Given the description of an element on the screen output the (x, y) to click on. 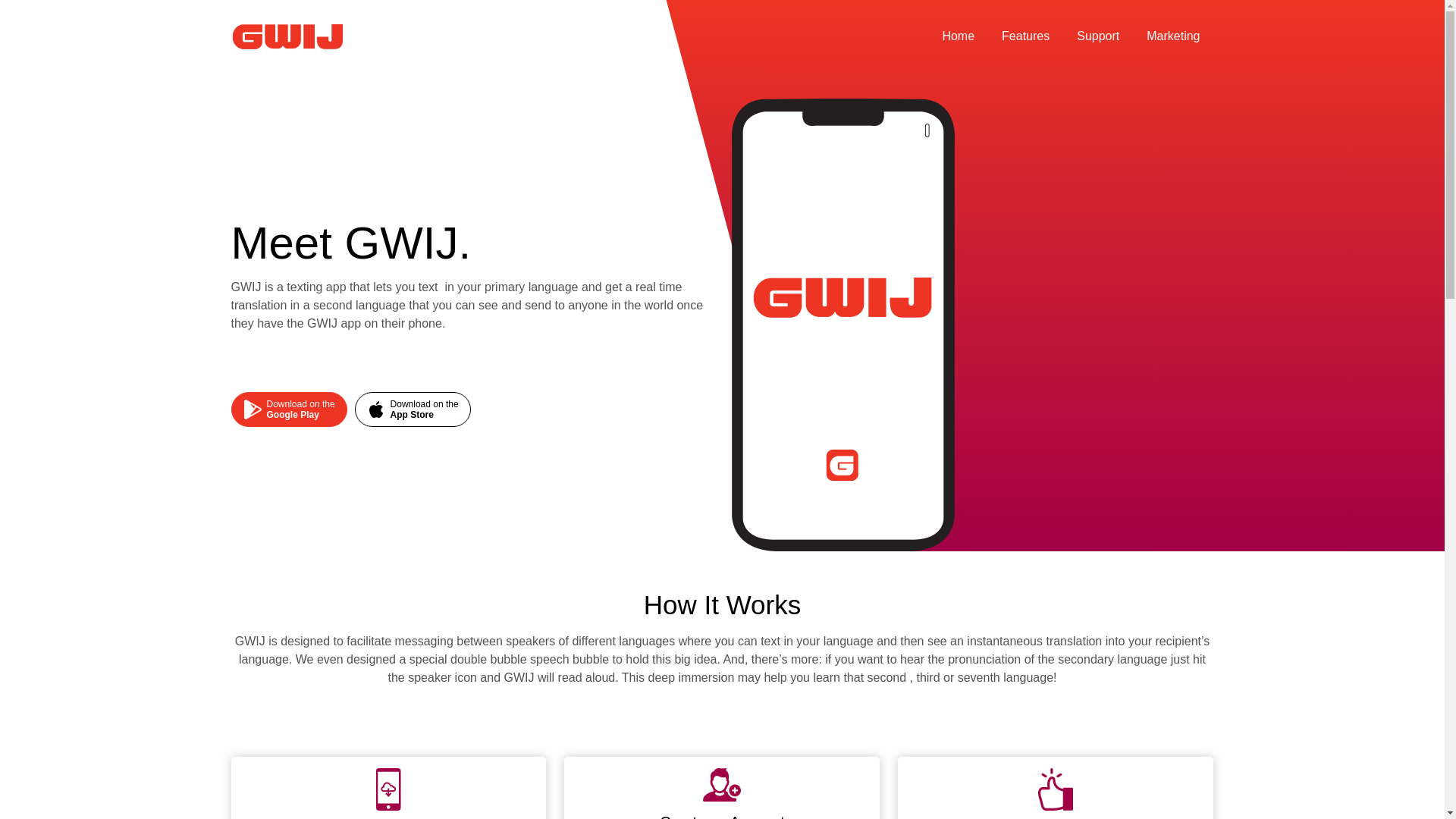
Marketing (1172, 36)
Support (288, 408)
Home (1097, 36)
Features (957, 36)
